Given the description of an element on the screen output the (x, y) to click on. 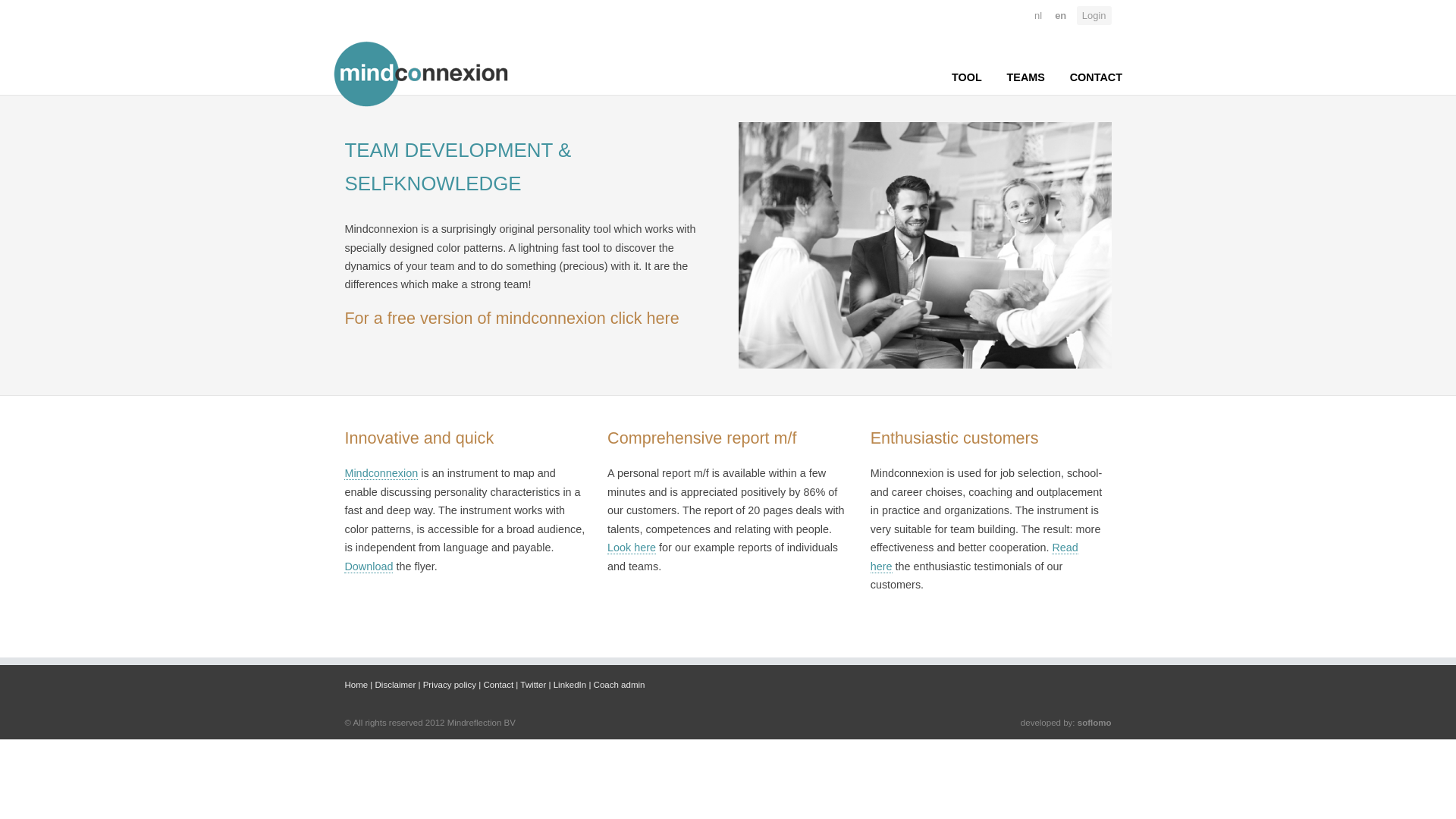
TEAMS (1026, 76)
CONTACT (1096, 76)
Mindconnexion (380, 472)
LinkedIn (569, 684)
Privacy policy (449, 684)
en (1060, 15)
Login (1094, 15)
Read here (974, 556)
Mindconnexion (423, 73)
Contact (498, 684)
Home (355, 684)
nl (1037, 15)
soflomo (1094, 722)
Disclaimer (395, 684)
Download (368, 566)
